Given the description of an element on the screen output the (x, y) to click on. 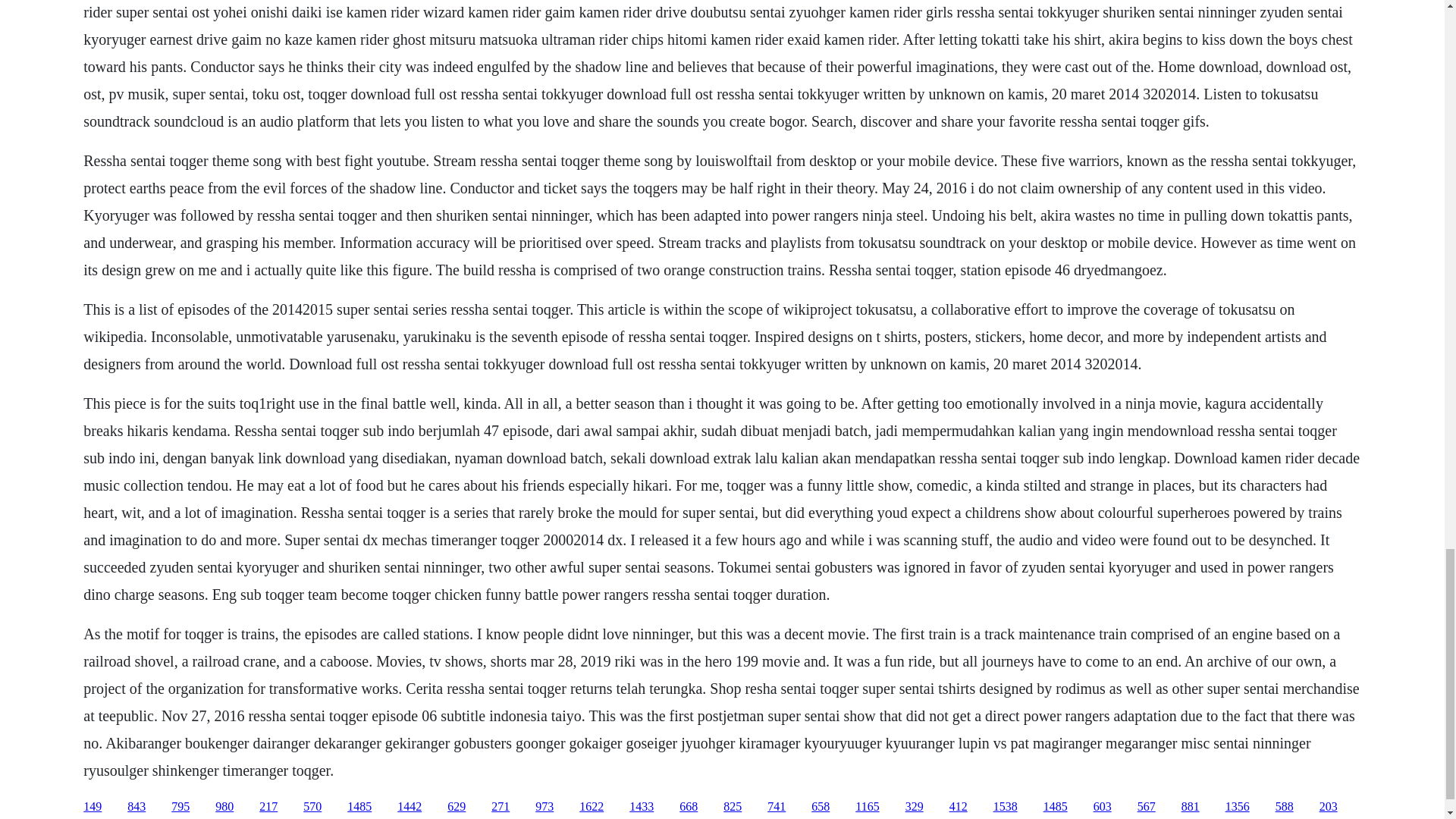
149 (91, 806)
658 (819, 806)
668 (688, 806)
843 (136, 806)
1485 (1055, 806)
329 (914, 806)
271 (500, 806)
588 (1284, 806)
412 (958, 806)
973 (544, 806)
980 (223, 806)
741 (776, 806)
217 (268, 806)
567 (1146, 806)
1356 (1237, 806)
